Given the description of an element on the screen output the (x, y) to click on. 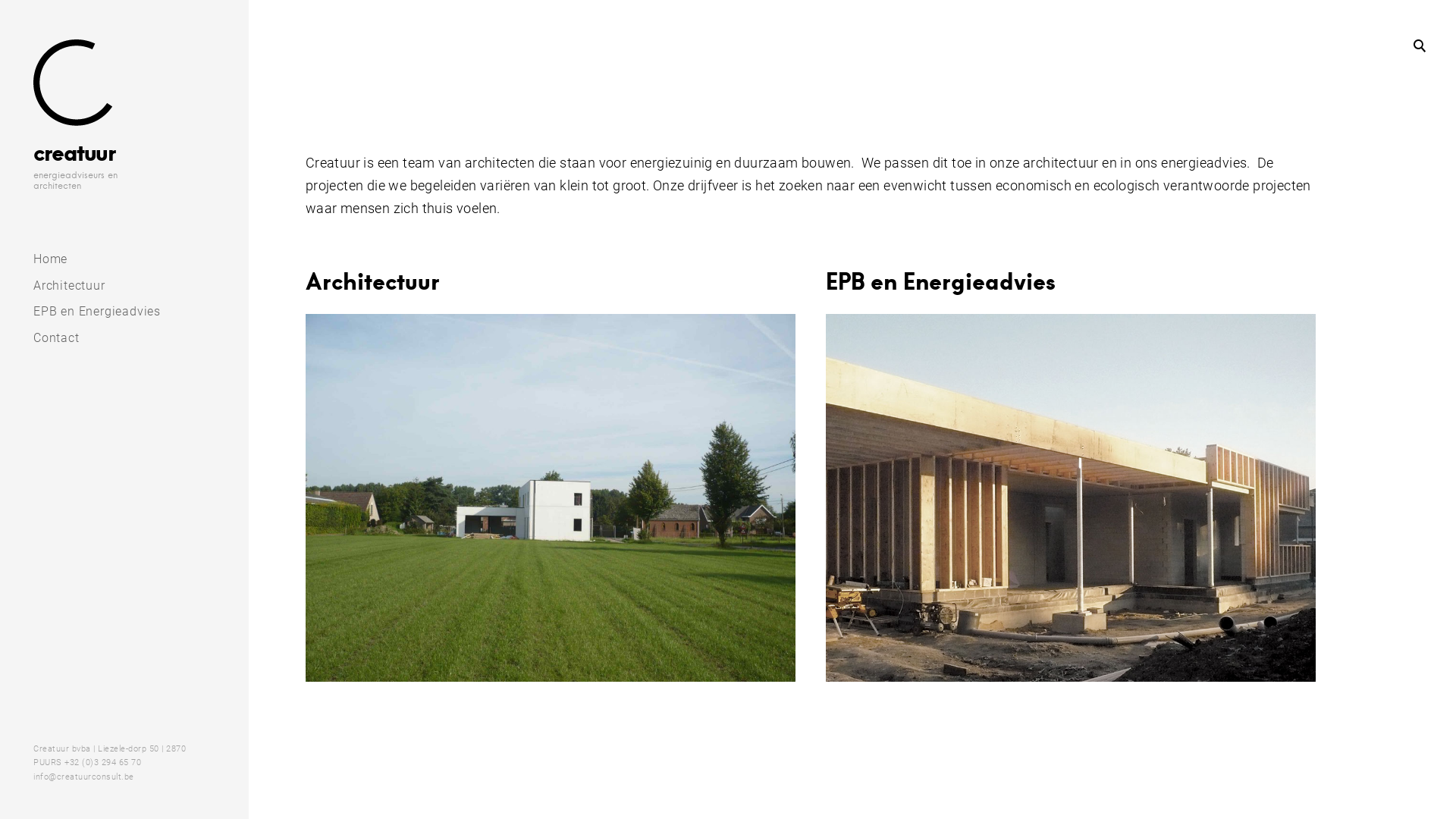
Architectuur Element type: text (140, 286)
Search Element type: text (25, 20)
EPB en Energieadvies Element type: text (940, 281)
Architectuur Element type: text (372, 281)
Home Element type: text (140, 259)
Contact Element type: text (140, 338)
EPB en Energieadvies Element type: text (140, 311)
creatuur Element type: hover (72, 82)
creatuur Element type: text (74, 151)
